Given the description of an element on the screen output the (x, y) to click on. 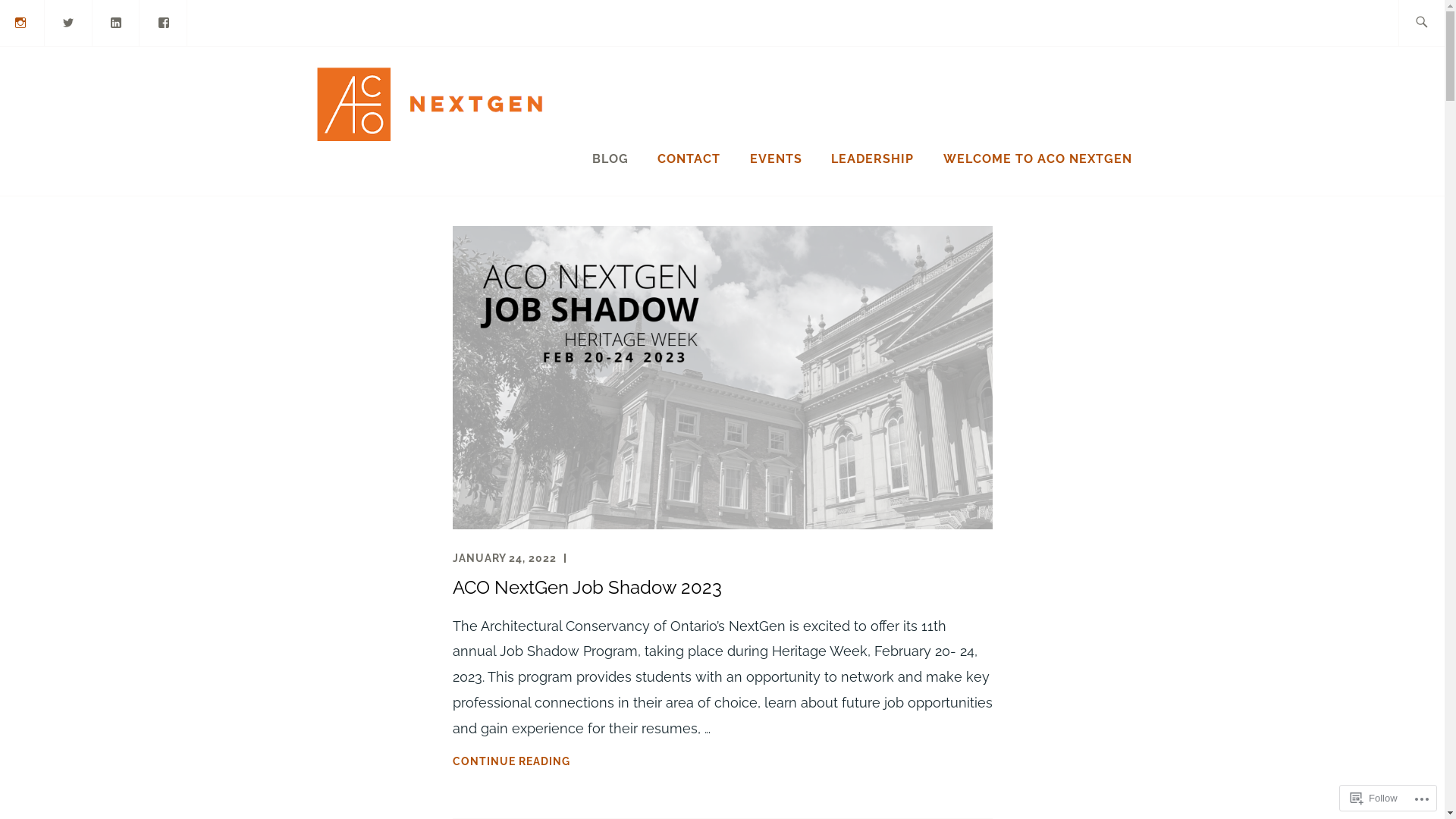
WELCOME TO ACO NEXTGEN Element type: text (1037, 158)
CONTINUE READING Element type: text (721, 761)
Follow Element type: text (1373, 797)
JANUARY 24, 2022 Element type: text (503, 558)
LEADERSHIP Element type: text (872, 158)
Search for: Element type: hover (1438, 23)
ACO NEXTGEN Element type: text (701, 127)
CONTACT Element type: text (688, 158)
BLOG Element type: text (610, 158)
Search Element type: text (46, 21)
EVENTS Element type: text (775, 158)
ACO NextGen Job Shadow 2023 Element type: text (586, 587)
